Given the description of an element on the screen output the (x, y) to click on. 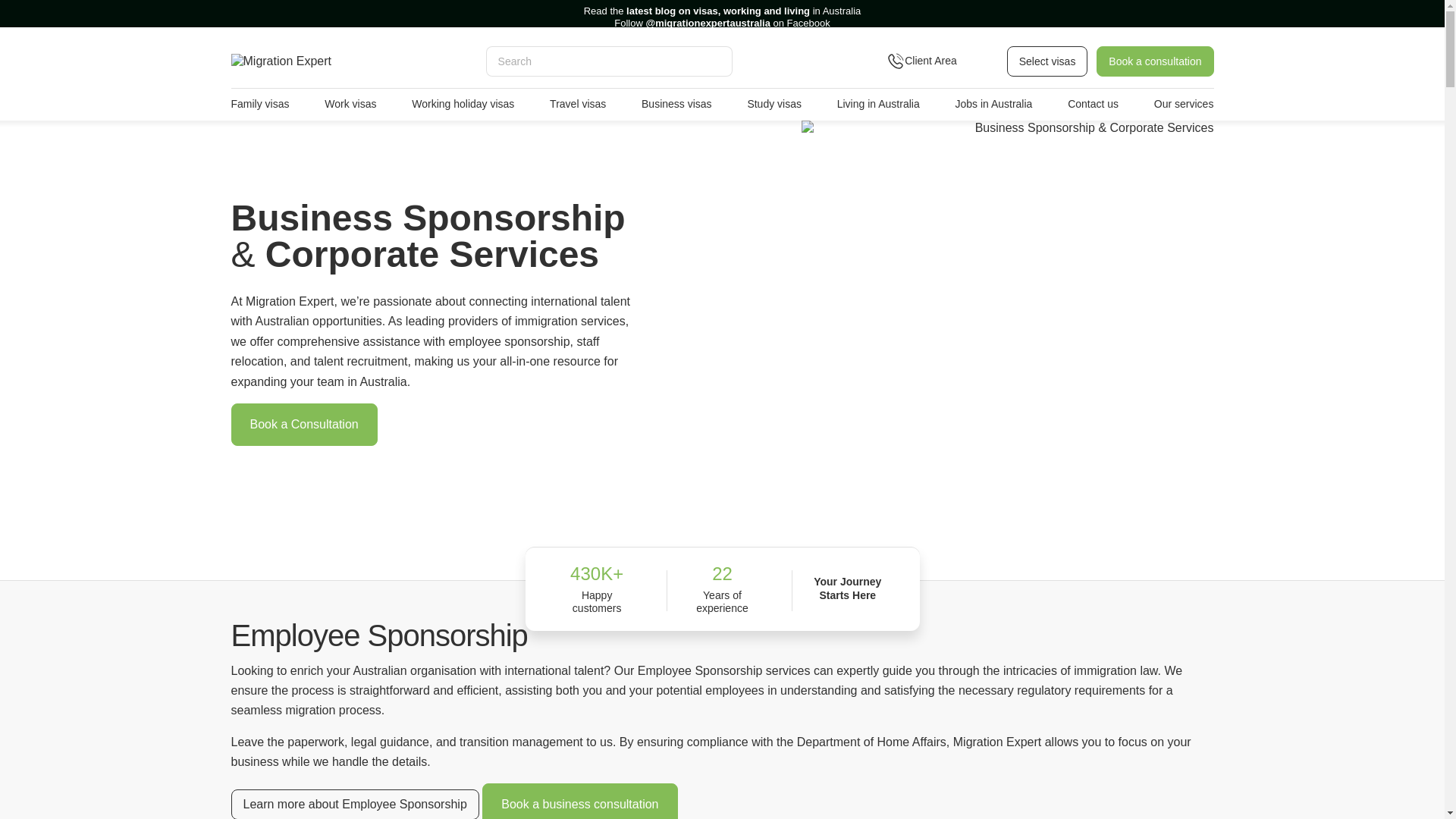
Book a consultation (1154, 60)
Select visas (1047, 60)
Family visas (259, 104)
Client Area (940, 60)
